Given the description of an element on the screen output the (x, y) to click on. 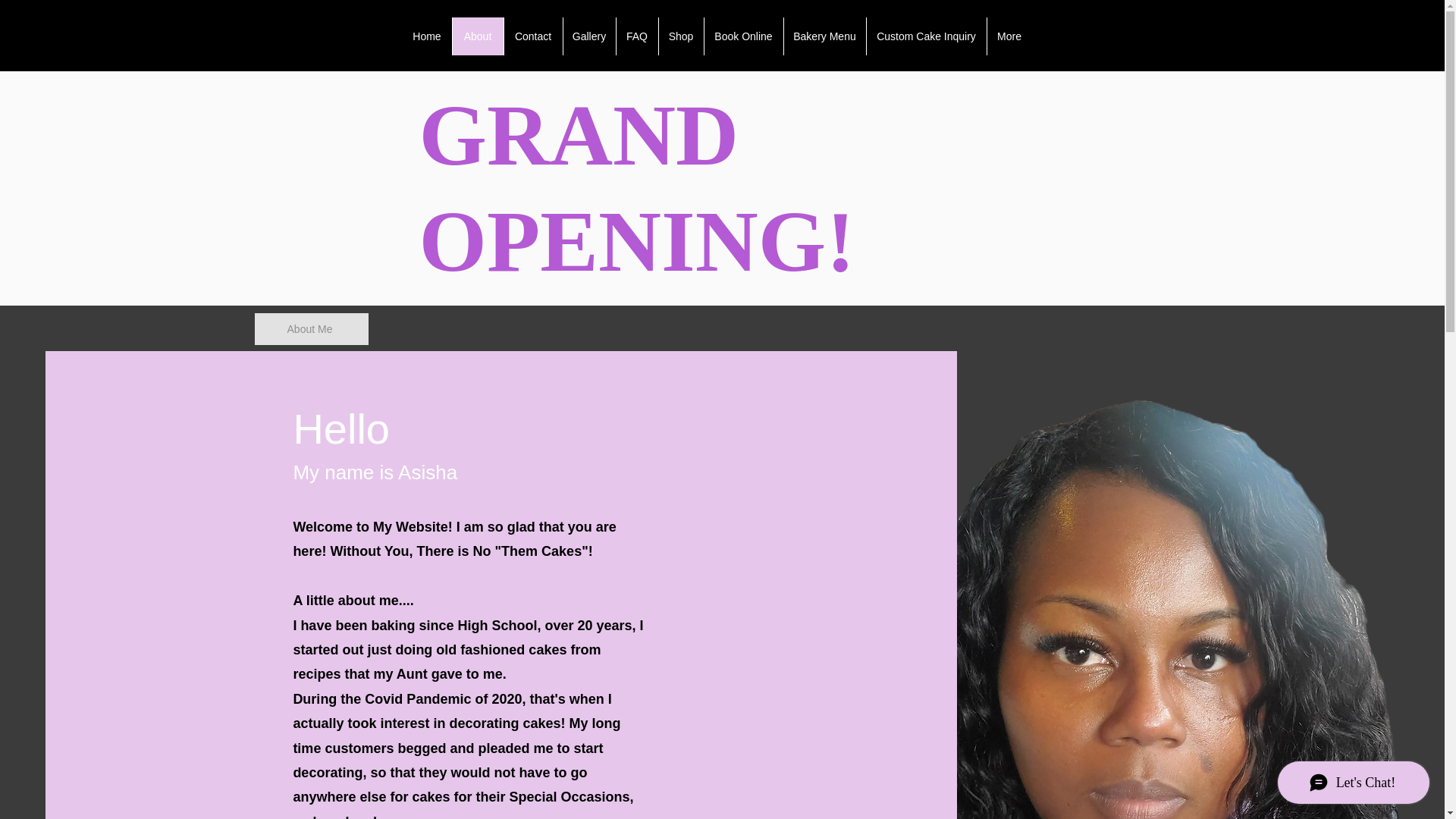
Shop (680, 36)
Gallery (588, 36)
About (821, 14)
FAQ (636, 36)
Shop (1002, 14)
About (477, 36)
Gallery (921, 14)
Home (777, 14)
About Me (311, 328)
FAQ (962, 14)
